Given the description of an element on the screen output the (x, y) to click on. 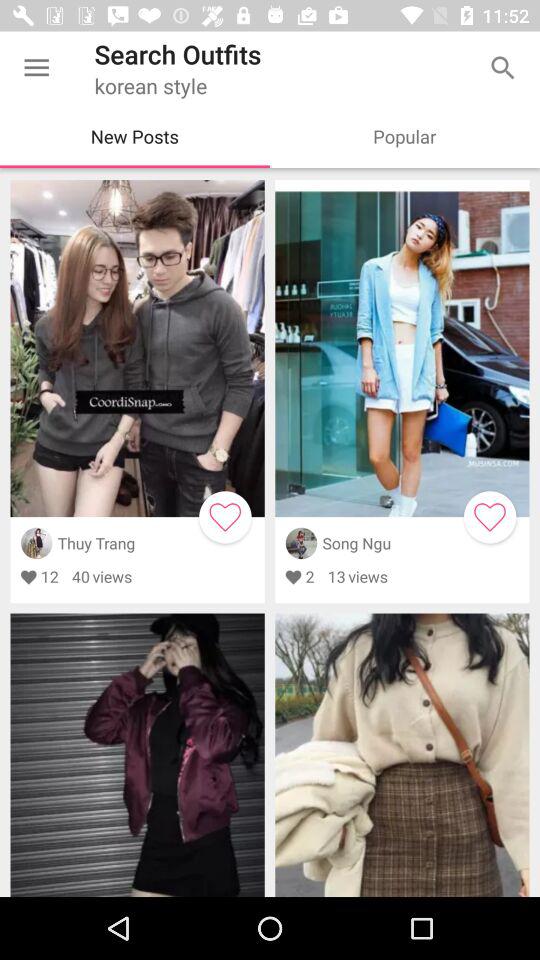
like/unlike post (225, 517)
